Given the description of an element on the screen output the (x, y) to click on. 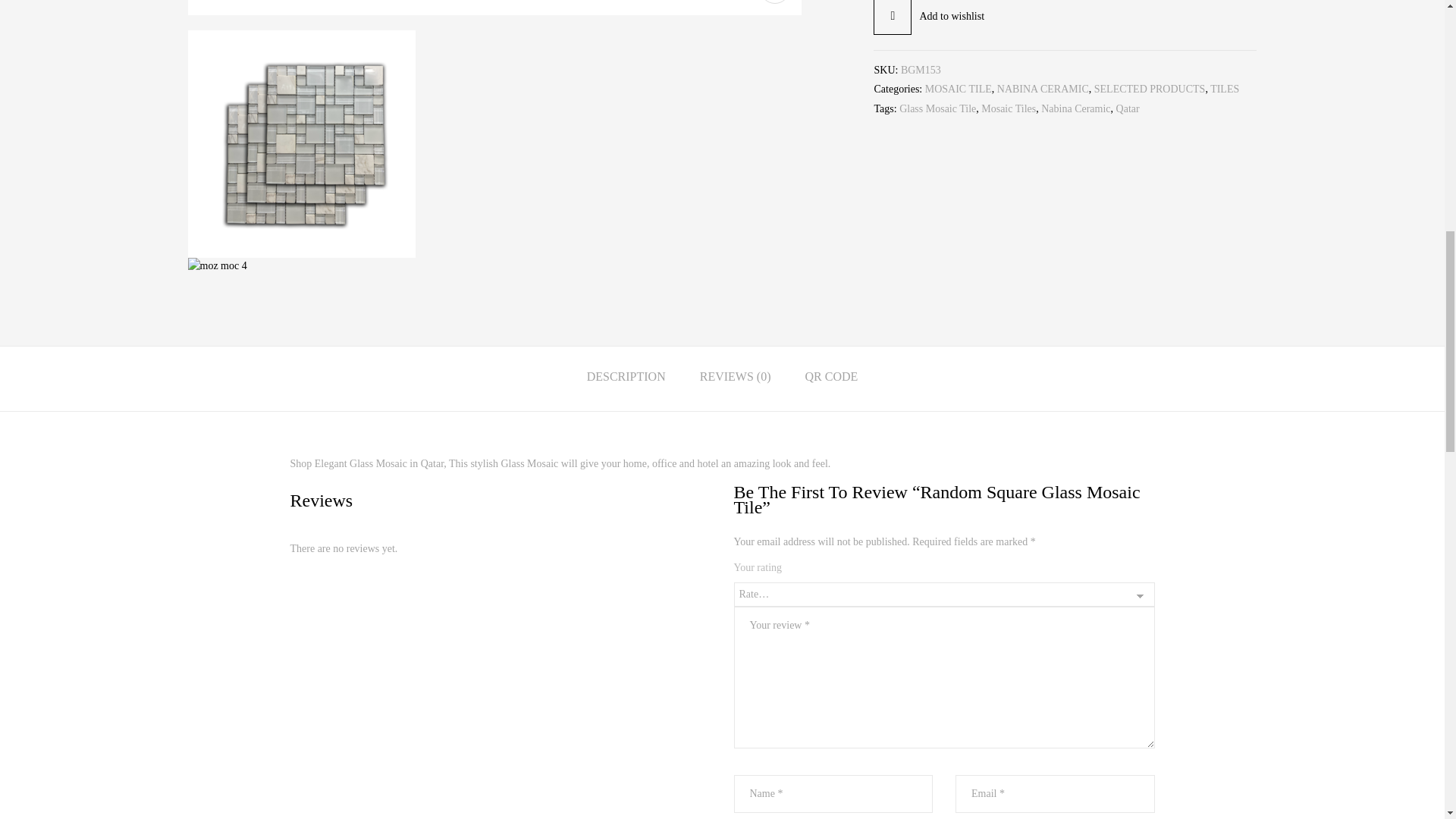
moz moc 4 (217, 265)
Mosaic Tile (494, 7)
Mosaic Tile (300, 143)
Mosaic Tile (300, 38)
